Given the description of an element on the screen output the (x, y) to click on. 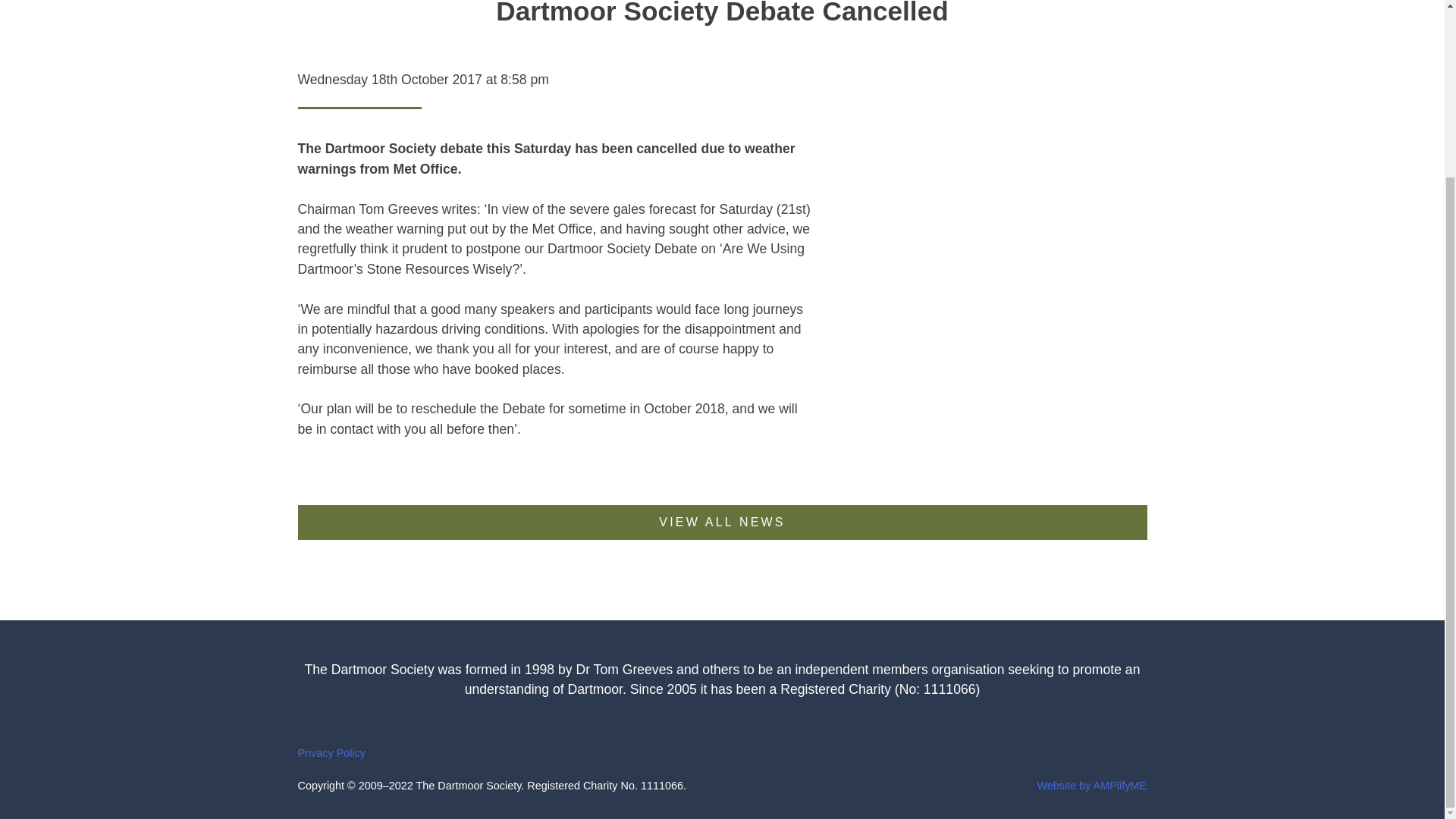
Website by AMPlifyME (1090, 785)
Privacy Policy (331, 752)
VIEW ALL NEWS (722, 522)
